Given the description of an element on the screen output the (x, y) to click on. 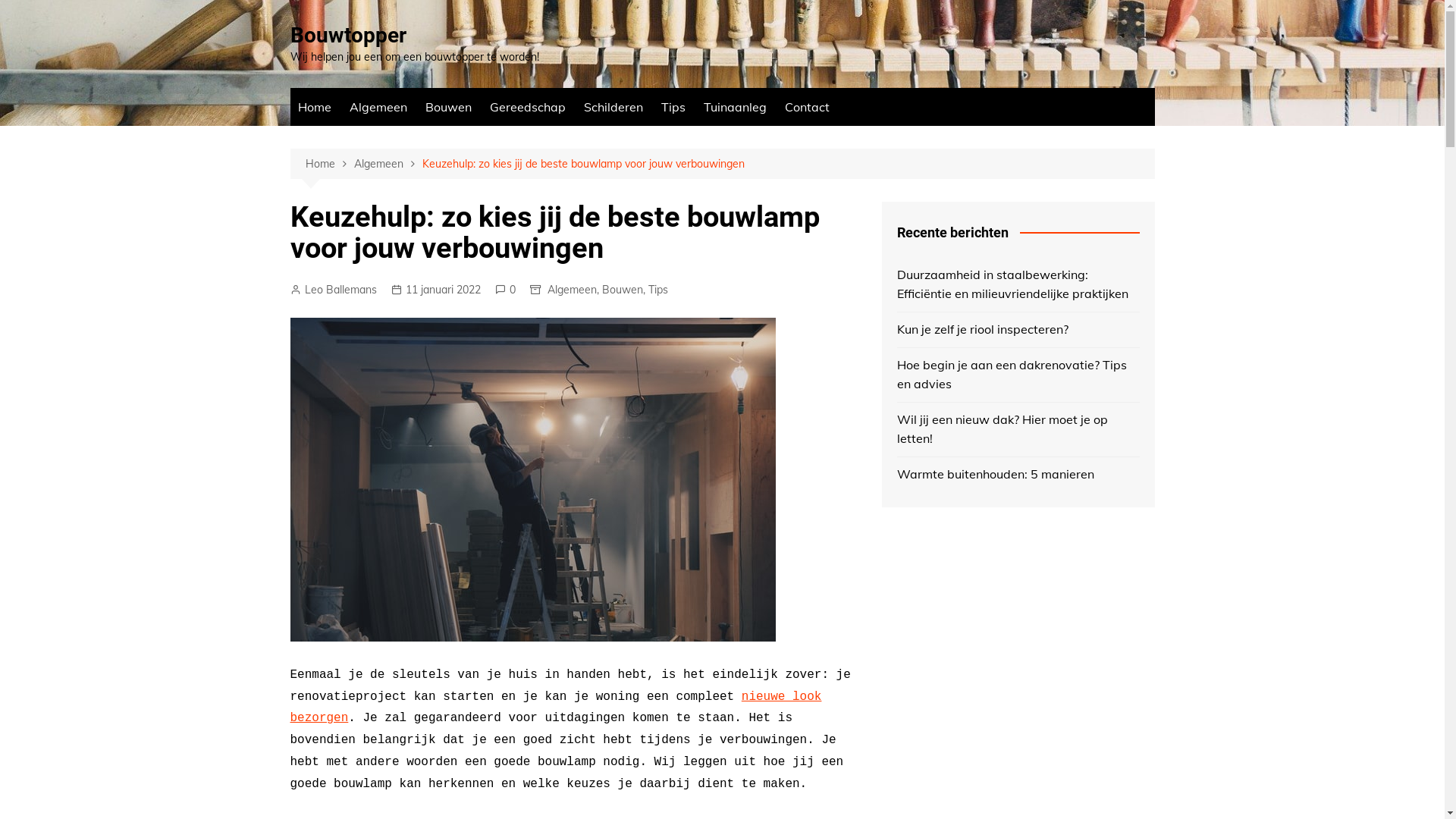
Algemeen Element type: text (377, 106)
Kun je zelf je riool inspecteren? Element type: text (1017, 329)
Wil jij een nieuw dak? Hier moet je op letten! Element type: text (1017, 429)
Contact Element type: text (806, 106)
Algemeen Element type: text (387, 163)
Bouwtopper Element type: text (347, 34)
Leo Ballemans Element type: text (332, 289)
0 Element type: text (504, 289)
Gereedschap Element type: text (527, 106)
Tuinaanleg Element type: text (735, 106)
Hoe begin je aan een dakrenovatie? Tips en advies Element type: text (1017, 374)
Home Element type: text (328, 163)
Tips Element type: text (657, 289)
nieuwe look bezorgen Element type: text (555, 707)
Warmte buitenhouden: 5 manieren Element type: text (1017, 474)
Bouwen Element type: text (622, 289)
Bouwen Element type: text (447, 106)
Tips Element type: text (673, 106)
Home Element type: text (313, 106)
Algemeen Element type: text (571, 289)
Schilderen Element type: text (613, 106)
11 januari 2022 Element type: text (435, 289)
